Given the description of an element on the screen output the (x, y) to click on. 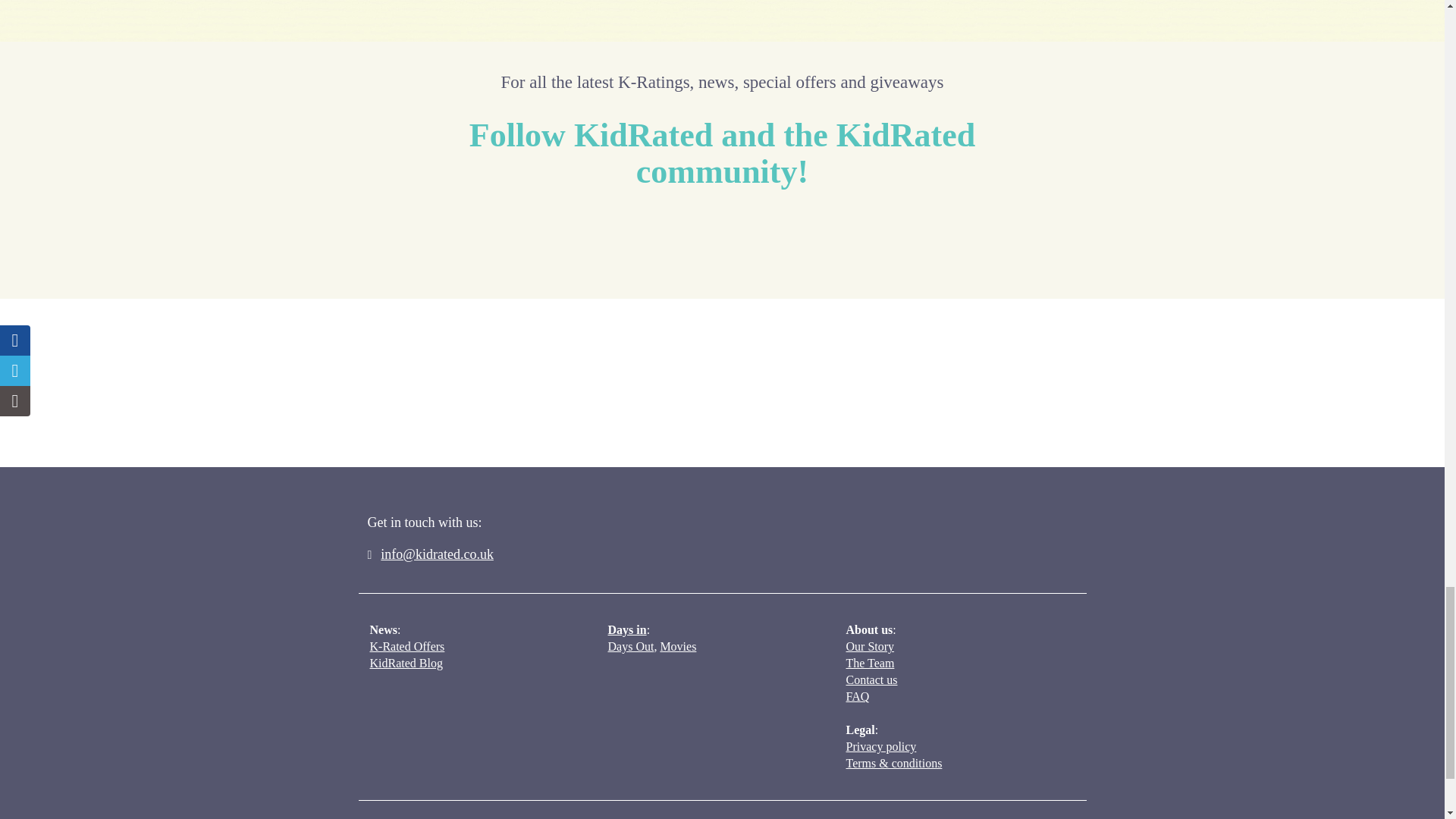
Kidrated's Pinterest (834, 238)
Evening Standard (404, 399)
Kidrated's Instagram (778, 238)
Kidrated's Youtube Channel (721, 238)
Kidrated's Twitter (666, 238)
Kidrated's Facebook (609, 238)
